Given the description of an element on the screen output the (x, y) to click on. 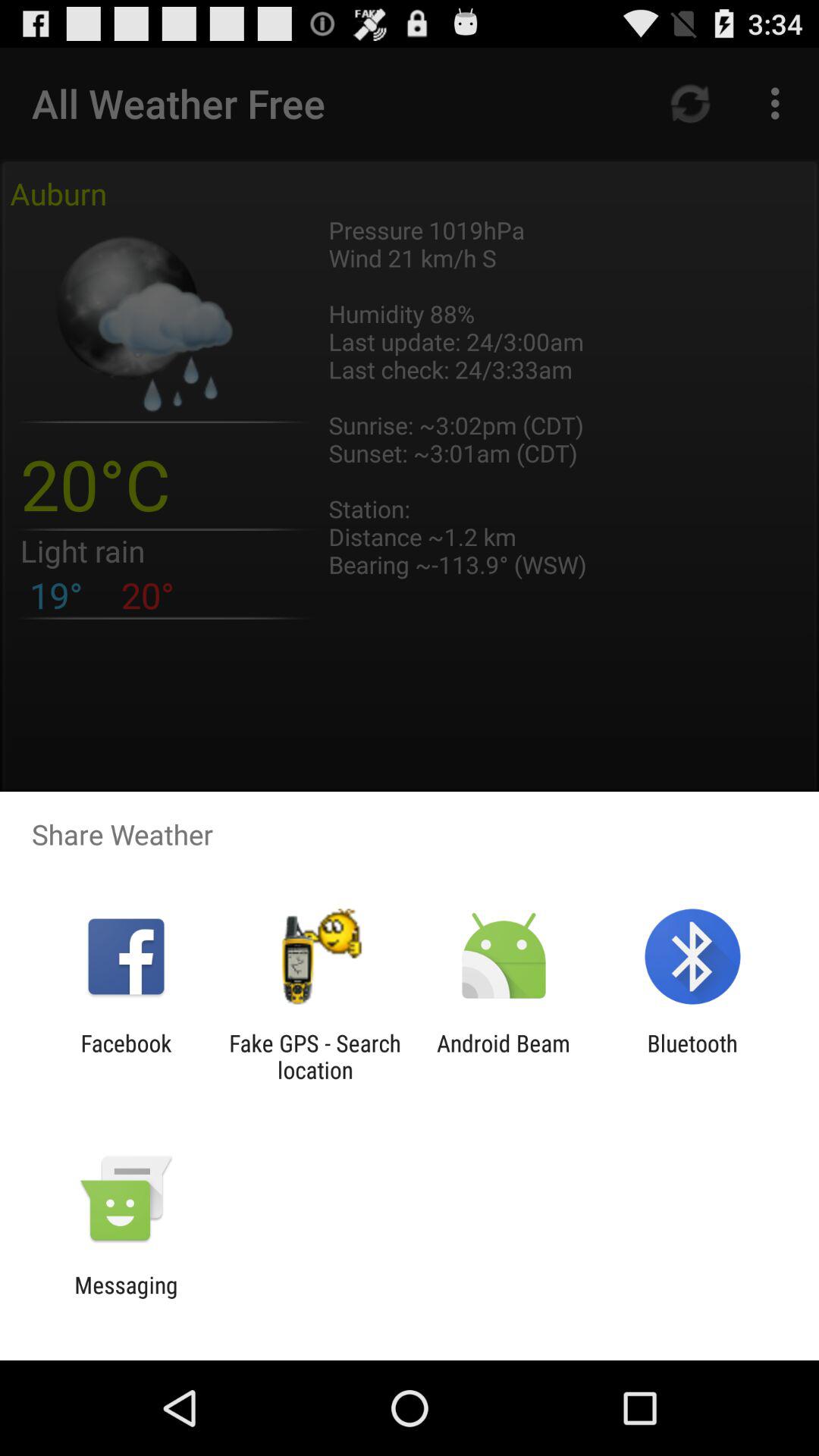
choose the bluetooth item (692, 1056)
